Given the description of an element on the screen output the (x, y) to click on. 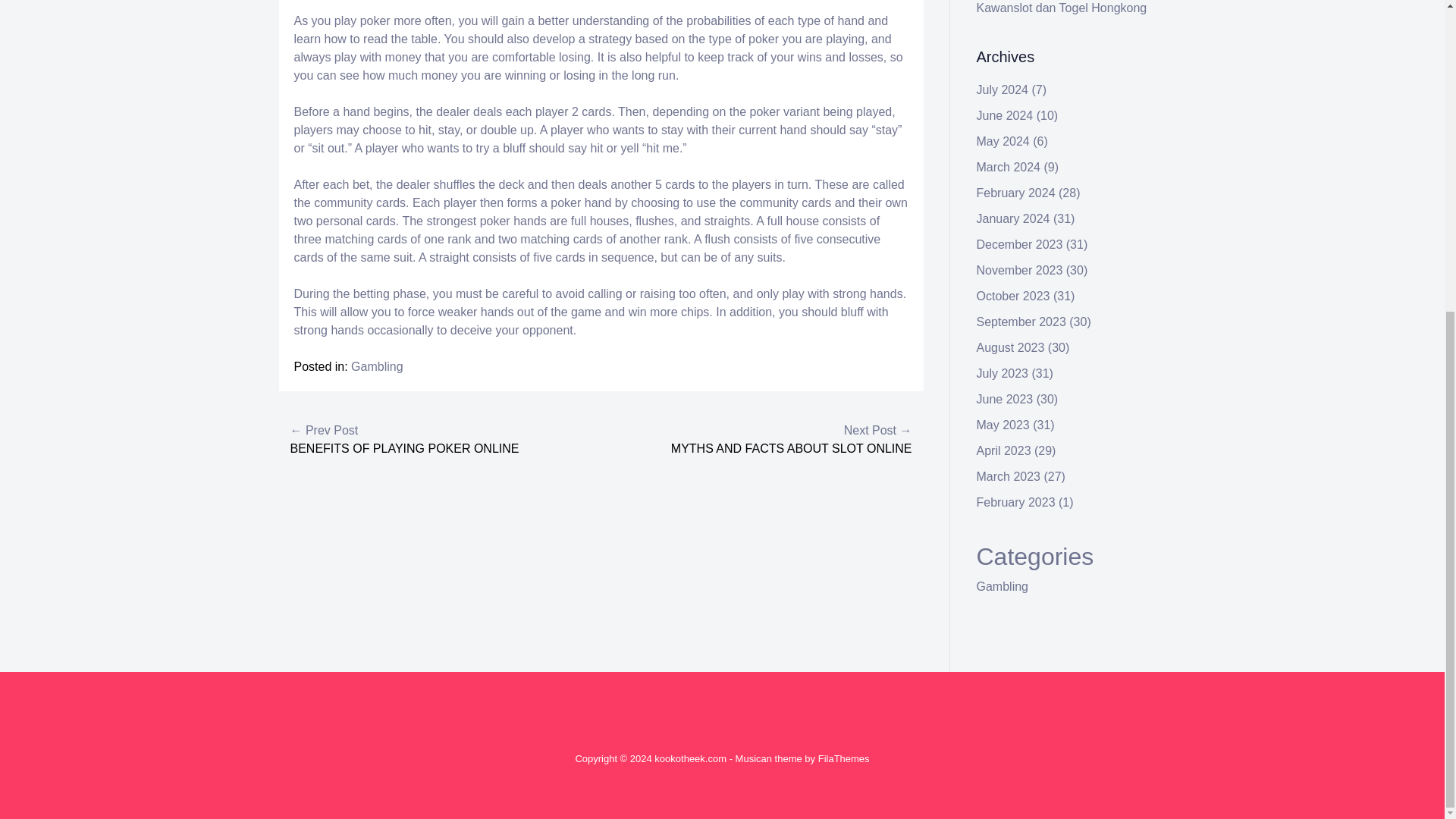
May 2023 (1002, 424)
November 2023 (1019, 269)
Gambling (376, 366)
FilaThemes (843, 758)
September 2023 (1020, 321)
March 2024 (1008, 166)
kookotheek.com (689, 758)
June 2023 (1004, 399)
March 2023 (1008, 476)
Rahasia Menang Besar di Situs Kawanslot dan Togel Hongkong (1061, 7)
April 2023 (1003, 450)
August 2023 (1010, 347)
May 2024 (1002, 141)
Gambling (1001, 585)
February 2024 (1015, 192)
